Given the description of an element on the screen output the (x, y) to click on. 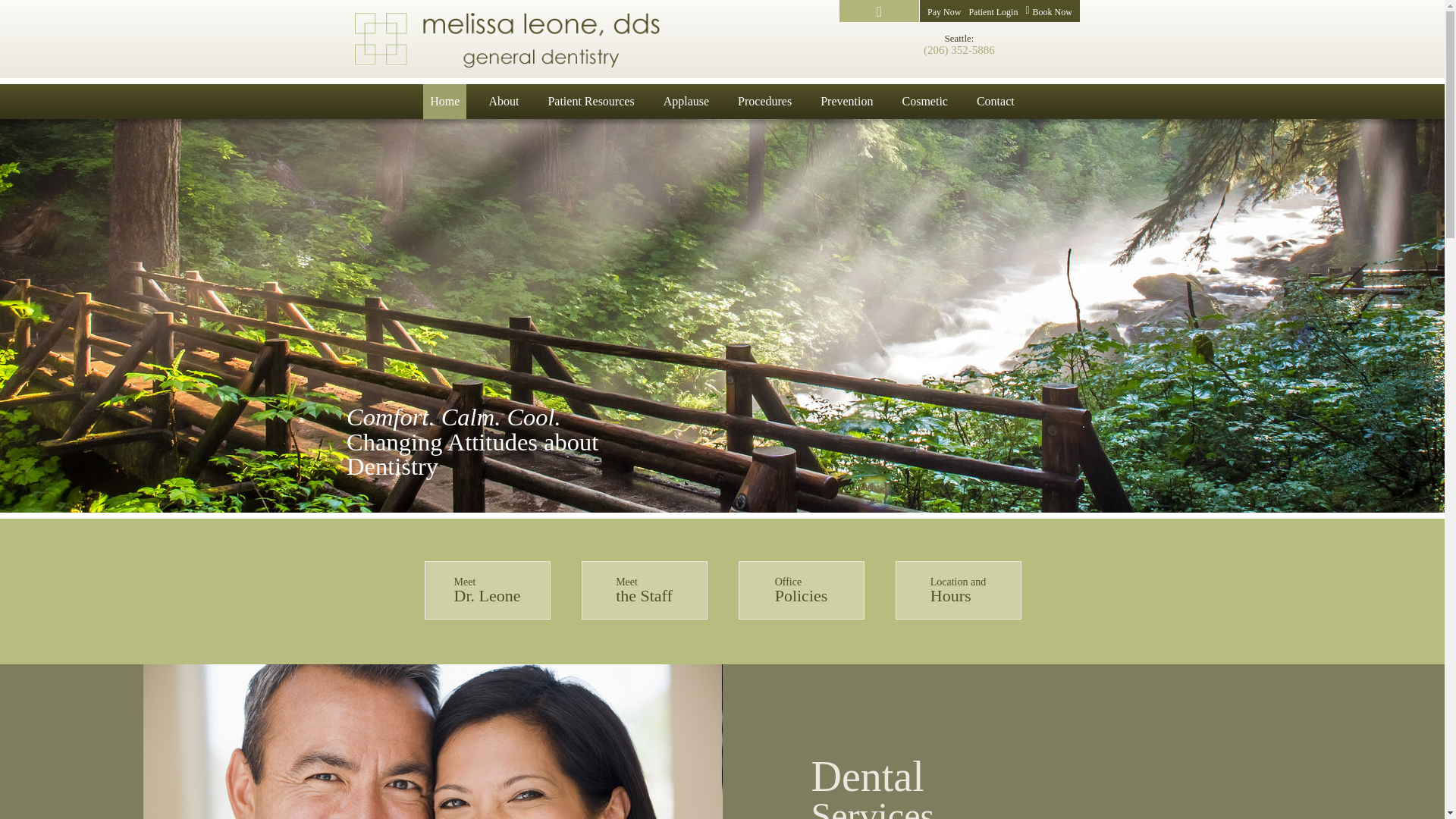
Prevention (846, 101)
Pay Now (943, 11)
About (503, 101)
Cosmetic (924, 101)
Patient Login (992, 11)
Home (444, 101)
Seattle: (959, 38)
Patient Resources (590, 101)
Procedures (763, 101)
Applause (686, 101)
 Book Now (1048, 11)
